Given the description of an element on the screen output the (x, y) to click on. 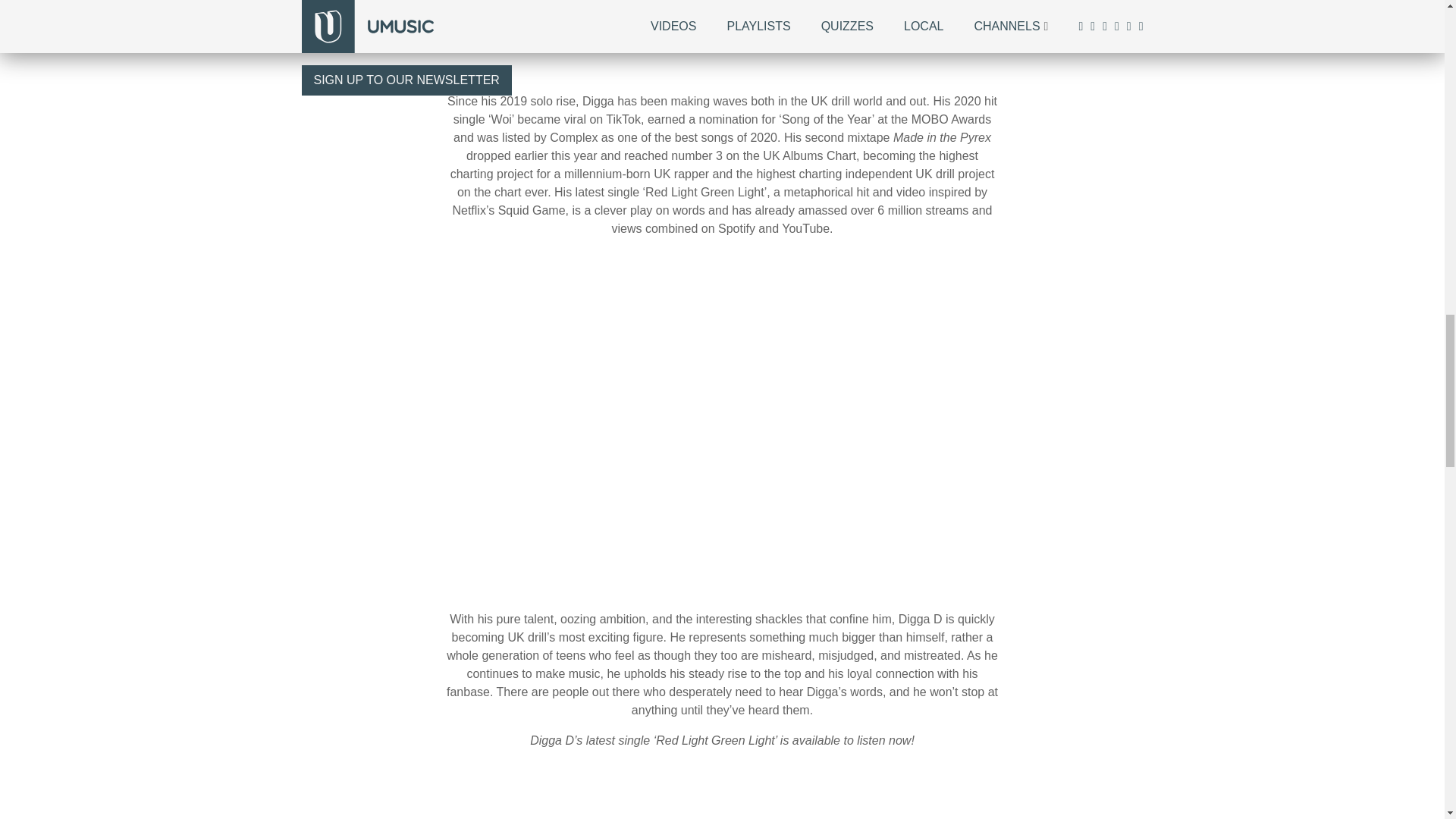
Spotify Embed: Red Light Green Light (721, 799)
Digga D - Woi (721, 31)
